Given the description of an element on the screen output the (x, y) to click on. 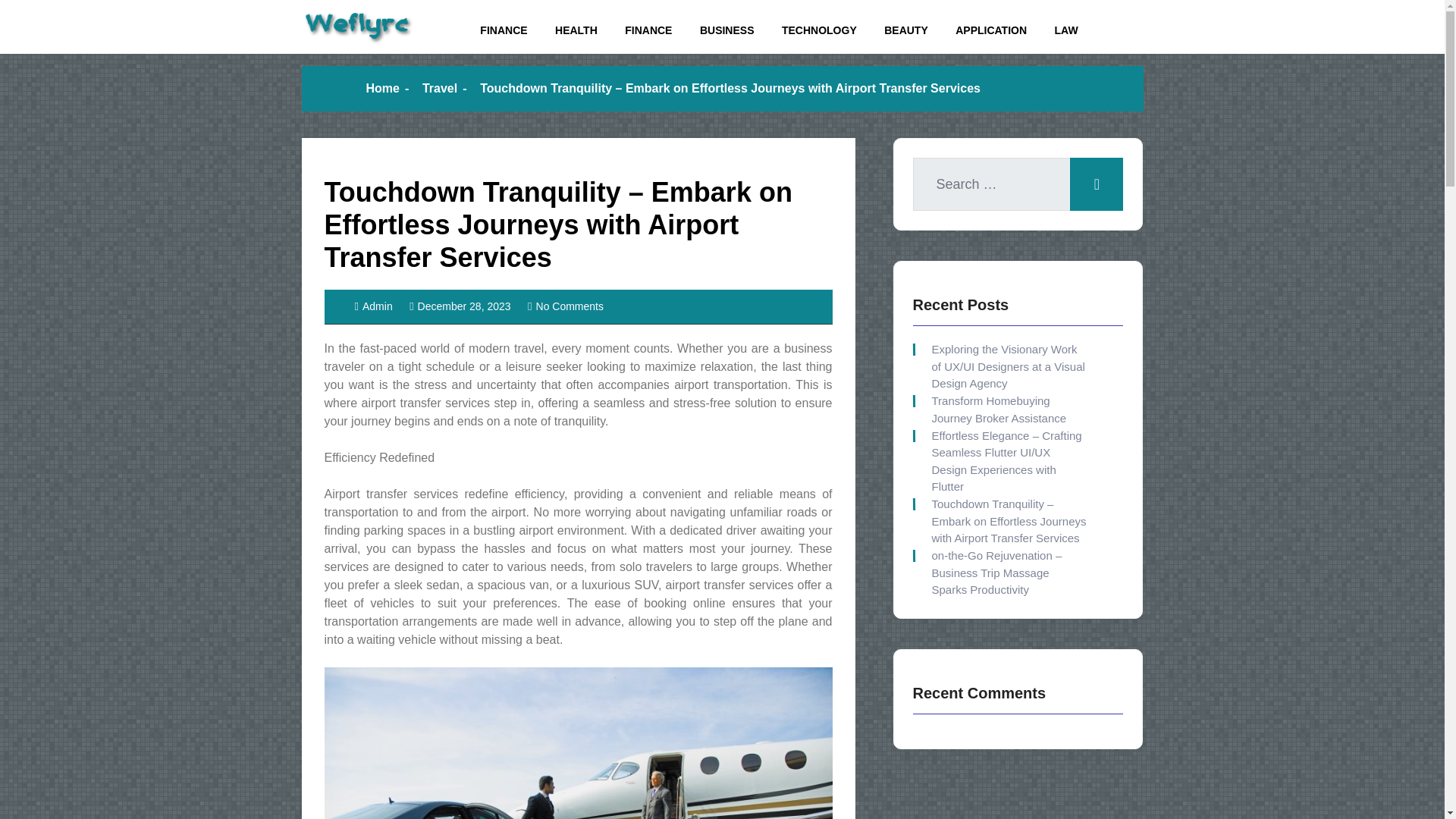
FINANCE (502, 30)
BUSINESS (727, 30)
APPLICATION (991, 30)
No Comments (565, 306)
December 28, 2023 (460, 306)
HEALTH (576, 30)
TECHNOLOGY (819, 30)
Transform Homebuying Journey Broker Assistance (1005, 409)
Admin (374, 306)
LAW (1066, 30)
